Given the description of an element on the screen output the (x, y) to click on. 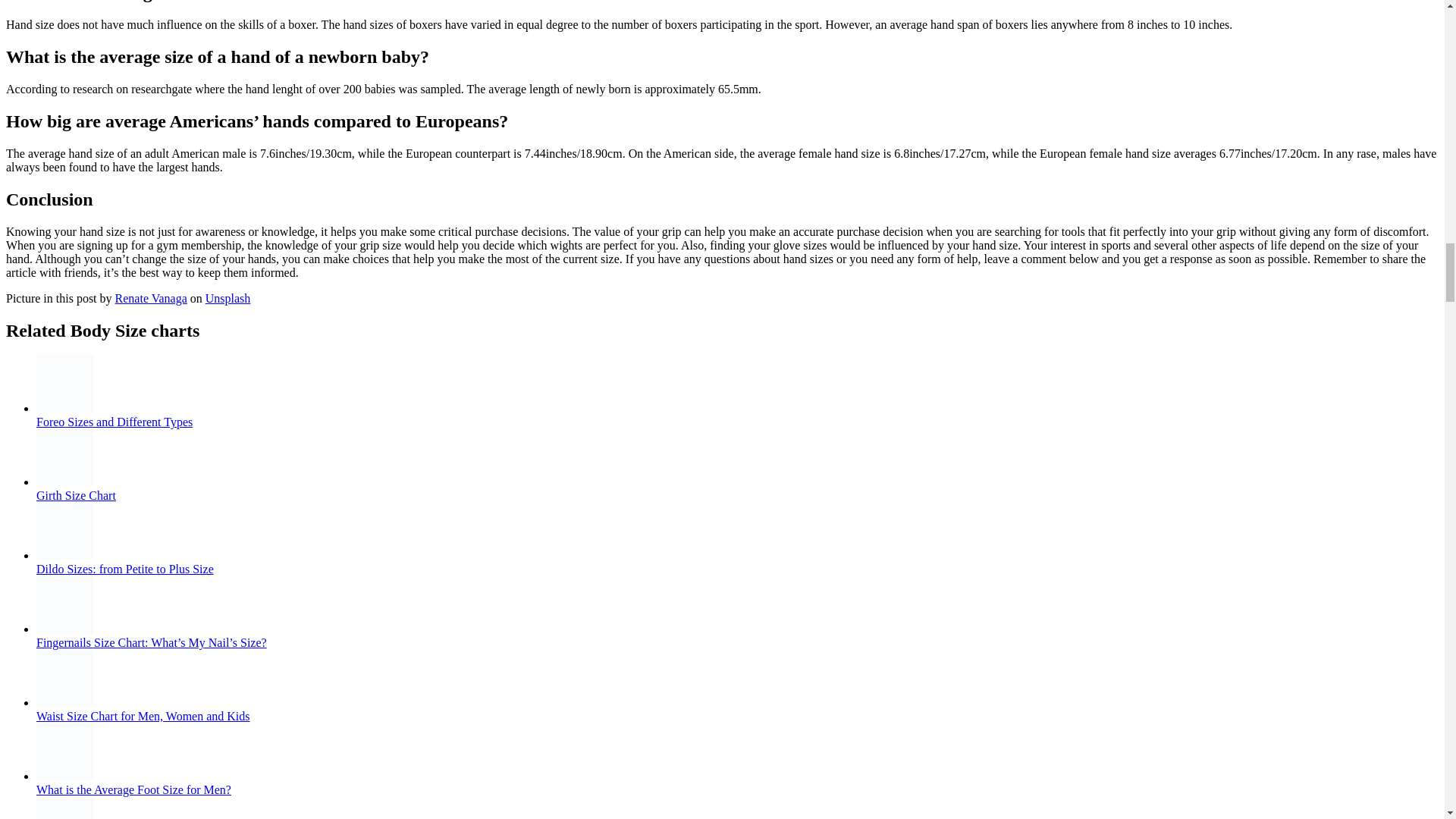
Foreo Sizes and Different Types (114, 421)
Girth Size Chart (76, 495)
Renate Vanaga (151, 297)
Dildo Sizes: from Petite to Plus Size (125, 568)
Unsplash (227, 297)
What is the Average Foot Size for Men? (133, 789)
Waist Size Chart for Men, Women and Kids (143, 716)
